Given the description of an element on the screen output the (x, y) to click on. 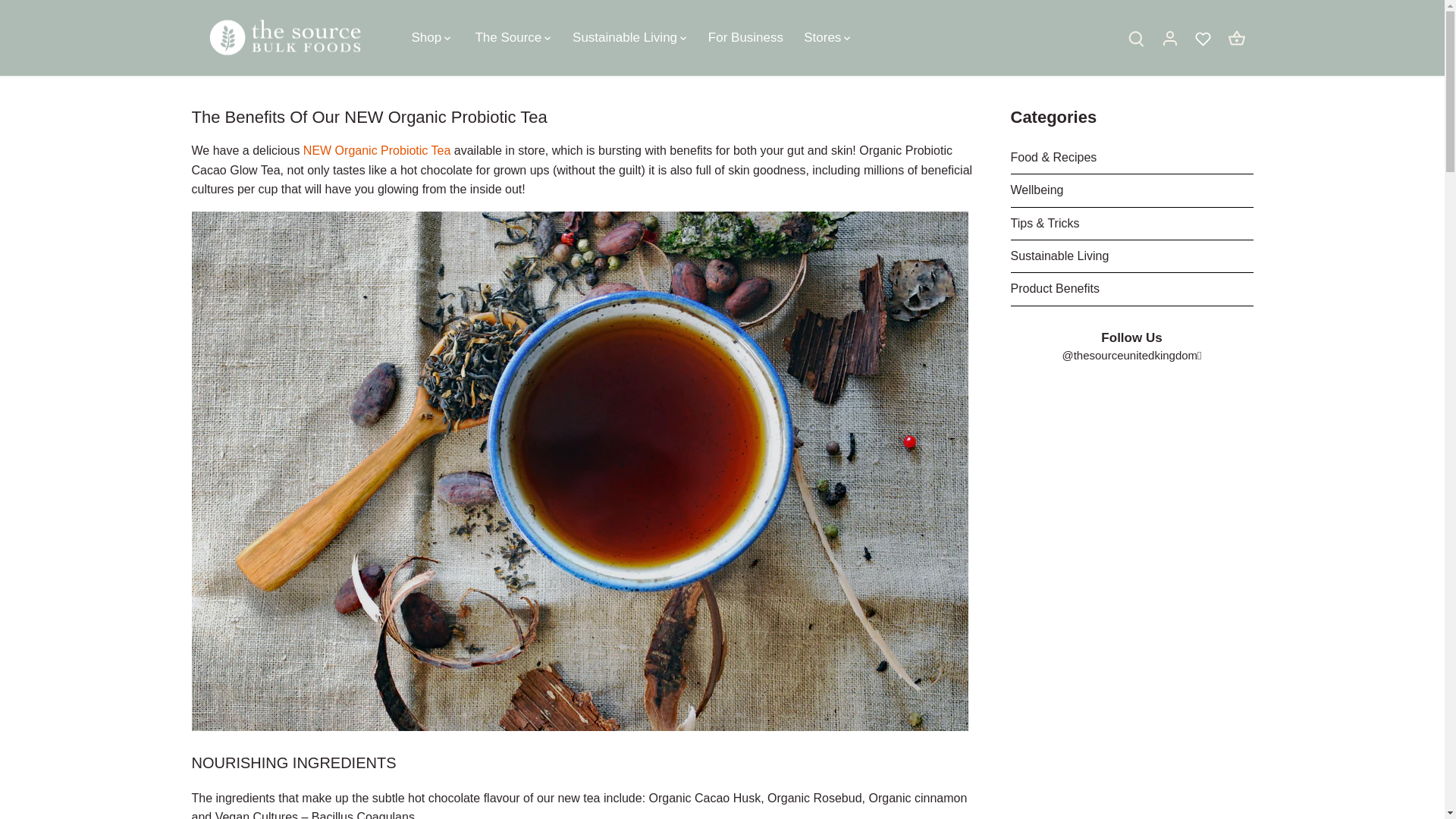
Go to cart (1235, 37)
Shop (430, 37)
